Given the description of an element on the screen output the (x, y) to click on. 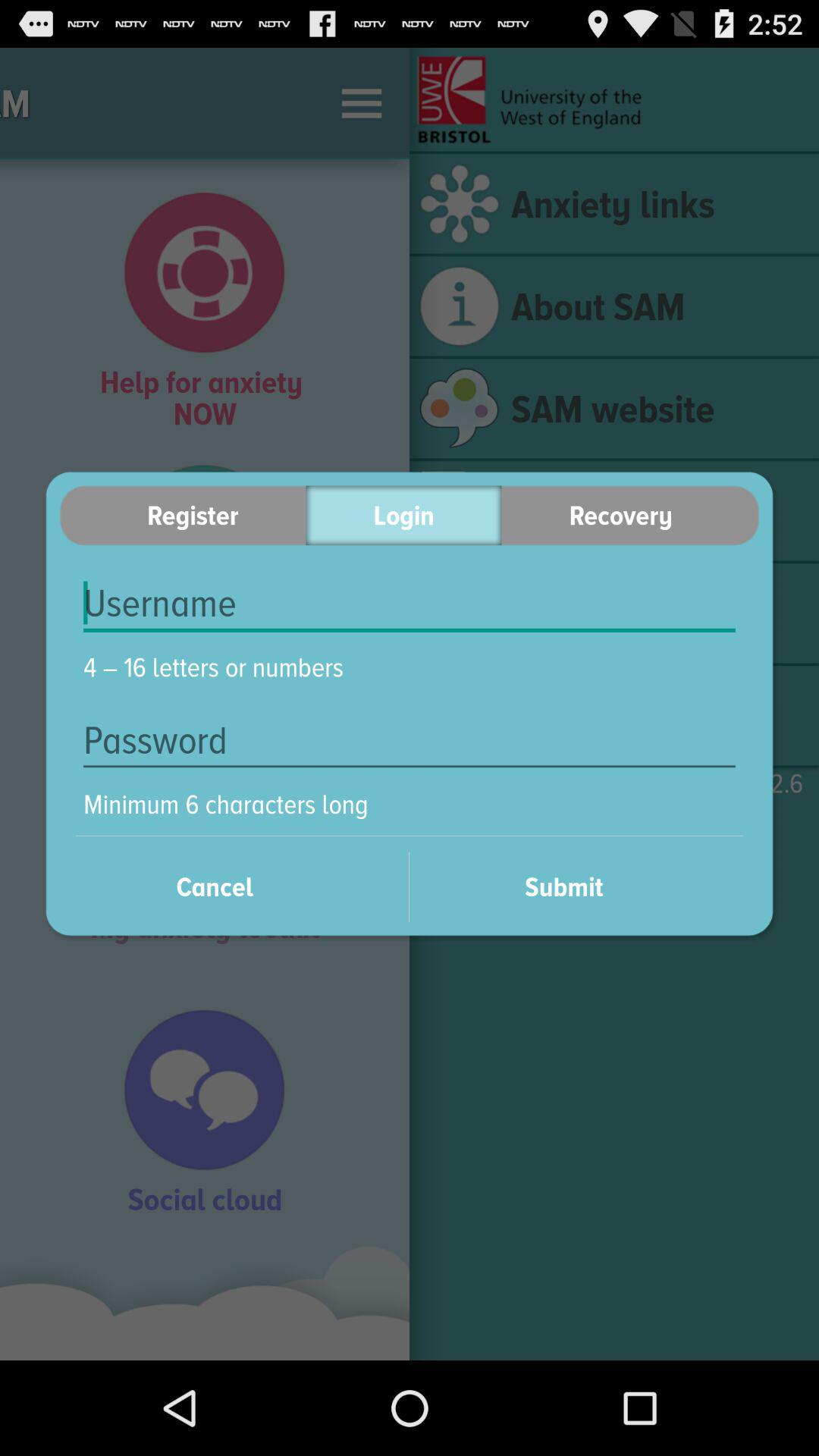
scroll to recovery (630, 515)
